Given the description of an element on the screen output the (x, y) to click on. 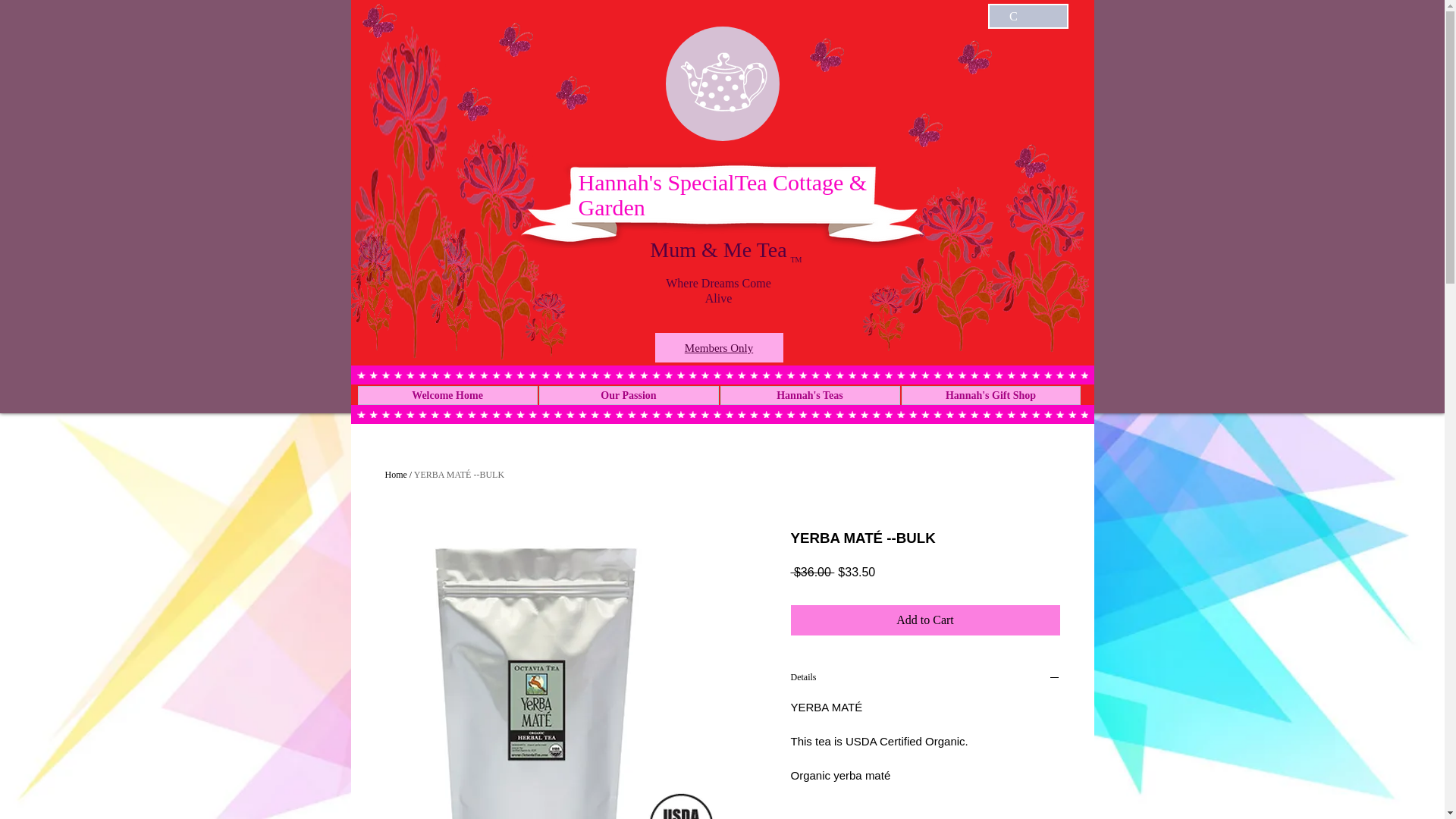
Add to Cart (924, 620)
Home (396, 474)
Details (924, 679)
Hannah's Teas (809, 394)
Our Passion (627, 394)
Welcome Home (447, 394)
Members Only (718, 347)
Hannah's Gift Shop (990, 394)
